Given the description of an element on the screen output the (x, y) to click on. 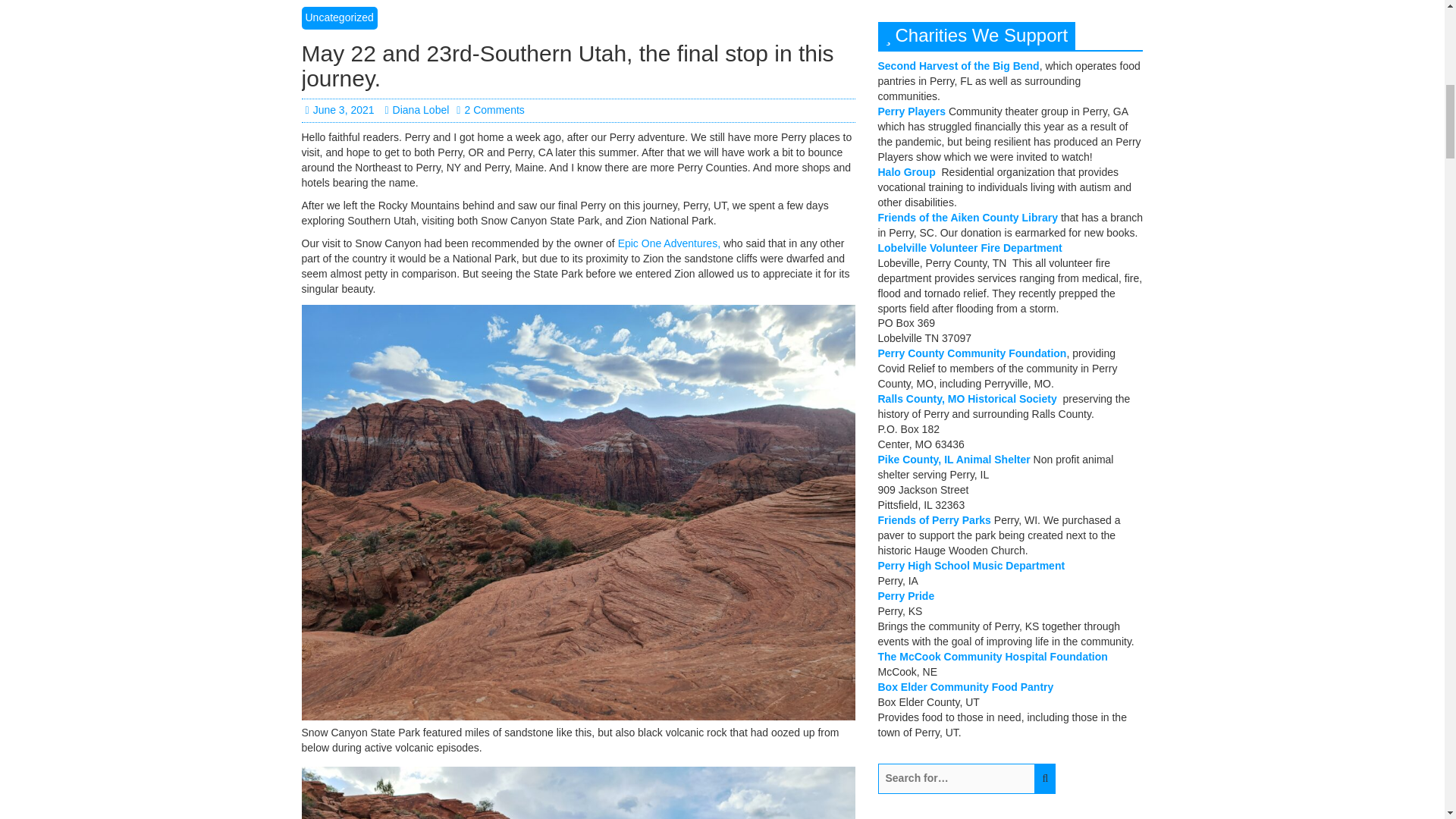
Perry County Community Foundation (972, 353)
Halo Group (906, 172)
Second Harvest of the Big Bend (958, 65)
Diana Lobel (416, 110)
Lobelville Volunteer Fire Department (969, 247)
2 Comments (490, 110)
Perry Pride (905, 595)
The McCook Community Hospital Foundation (992, 656)
Friends of the Aiken County Library (967, 217)
Uncategorized (339, 17)
